Given the description of an element on the screen output the (x, y) to click on. 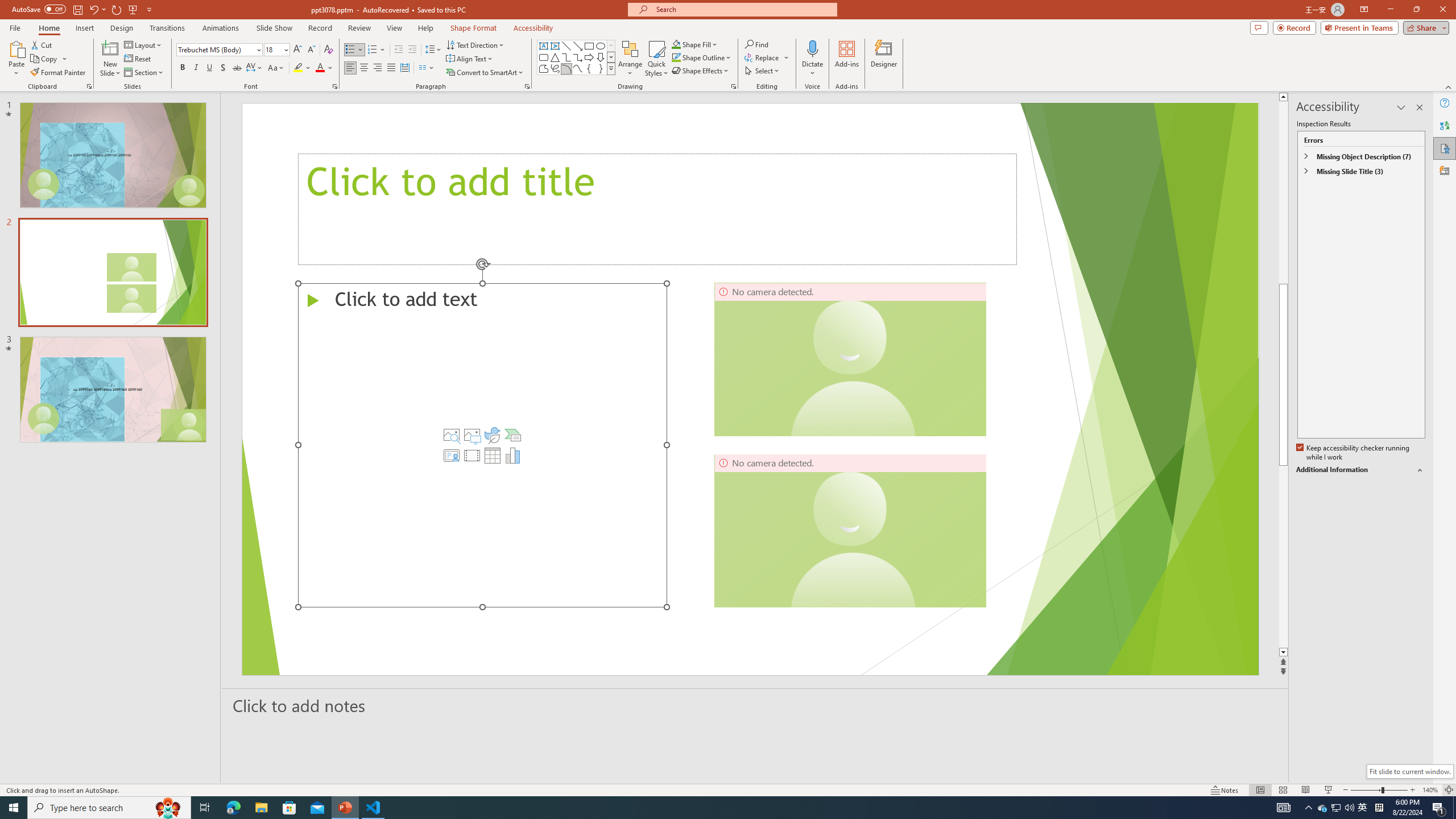
Shape Outline Green, Accent 1 (675, 56)
Content Placeholder (482, 445)
